Given the description of an element on the screen output the (x, y) to click on. 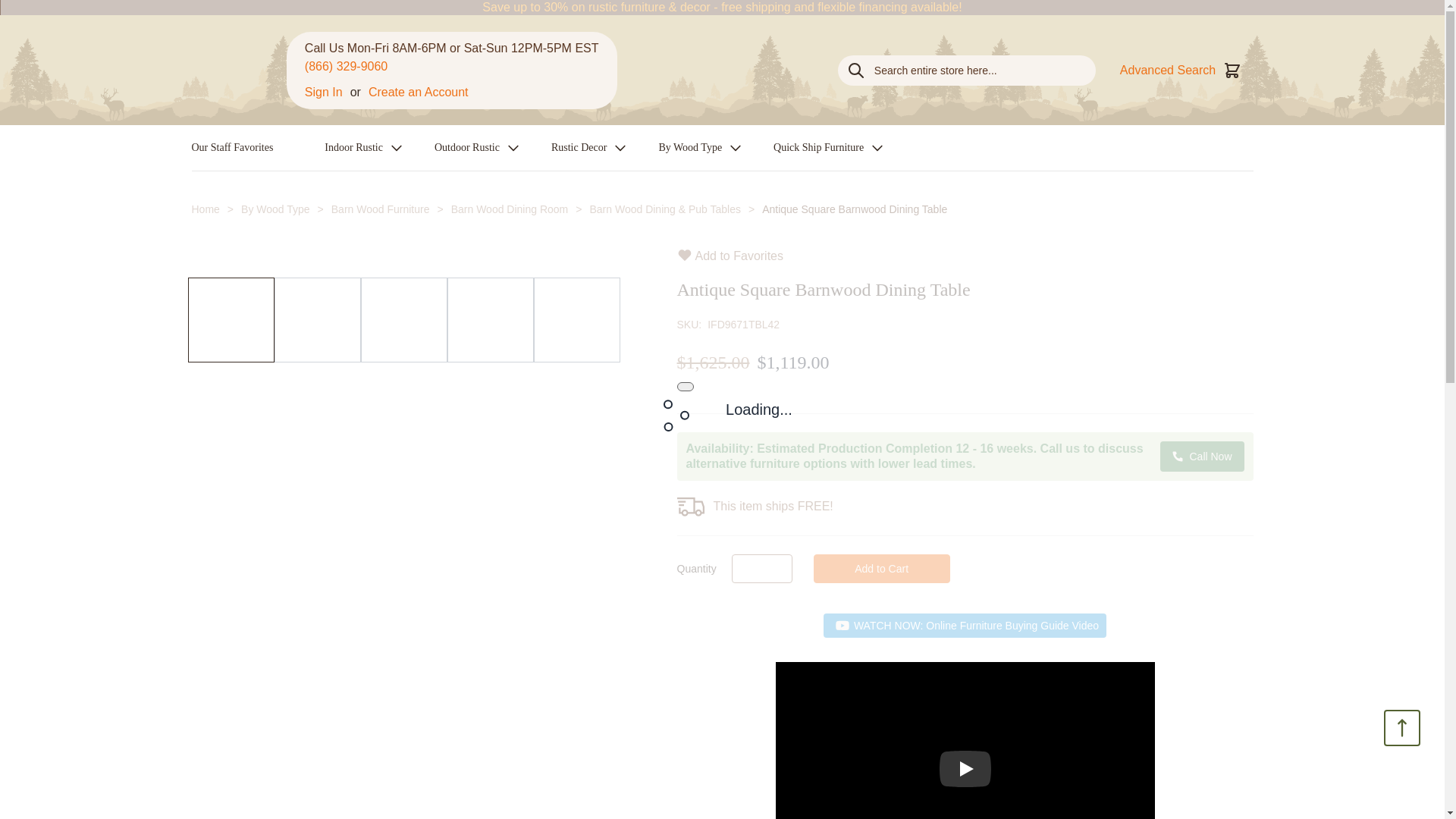
Sign In (323, 92)
Advanced Search (1167, 69)
Create an Account (418, 92)
Search (855, 69)
Cart (1231, 69)
Woodland Creek's Log Furniture Place (237, 70)
